Given the description of an element on the screen output the (x, y) to click on. 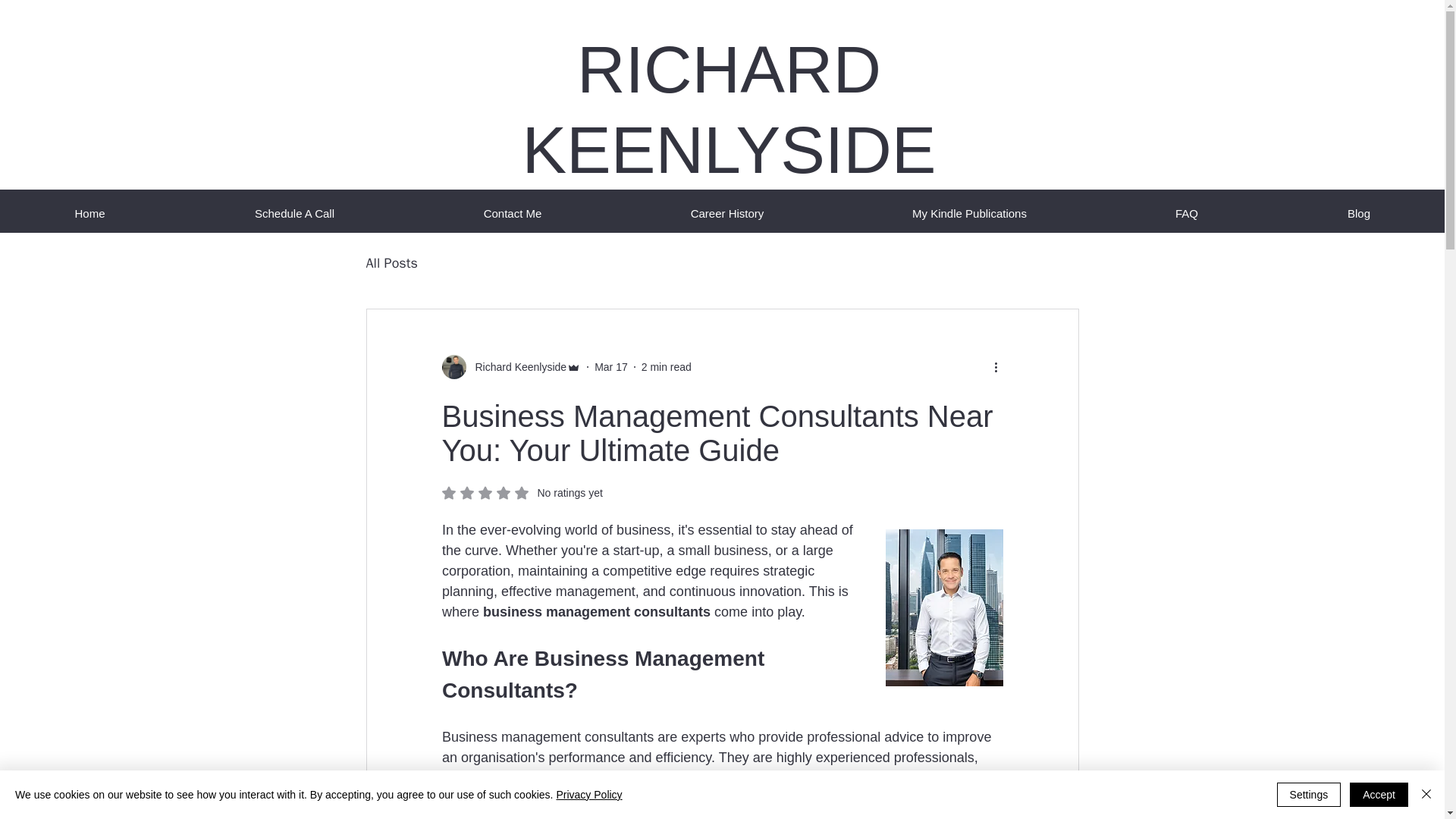
Privacy Policy (588, 794)
Settings (1308, 794)
Richard Keenlyside (515, 367)
Richard Keenlyside (510, 366)
RICHARD KEENLYSIDE (728, 109)
My Kindle Publications (969, 213)
Contact Me (512, 213)
FAQ (1186, 213)
Accept (1378, 794)
Mar 17 (610, 367)
Career History (726, 213)
2 min read (666, 367)
Schedule A Call (521, 492)
Home (294, 213)
